Given the description of an element on the screen output the (x, y) to click on. 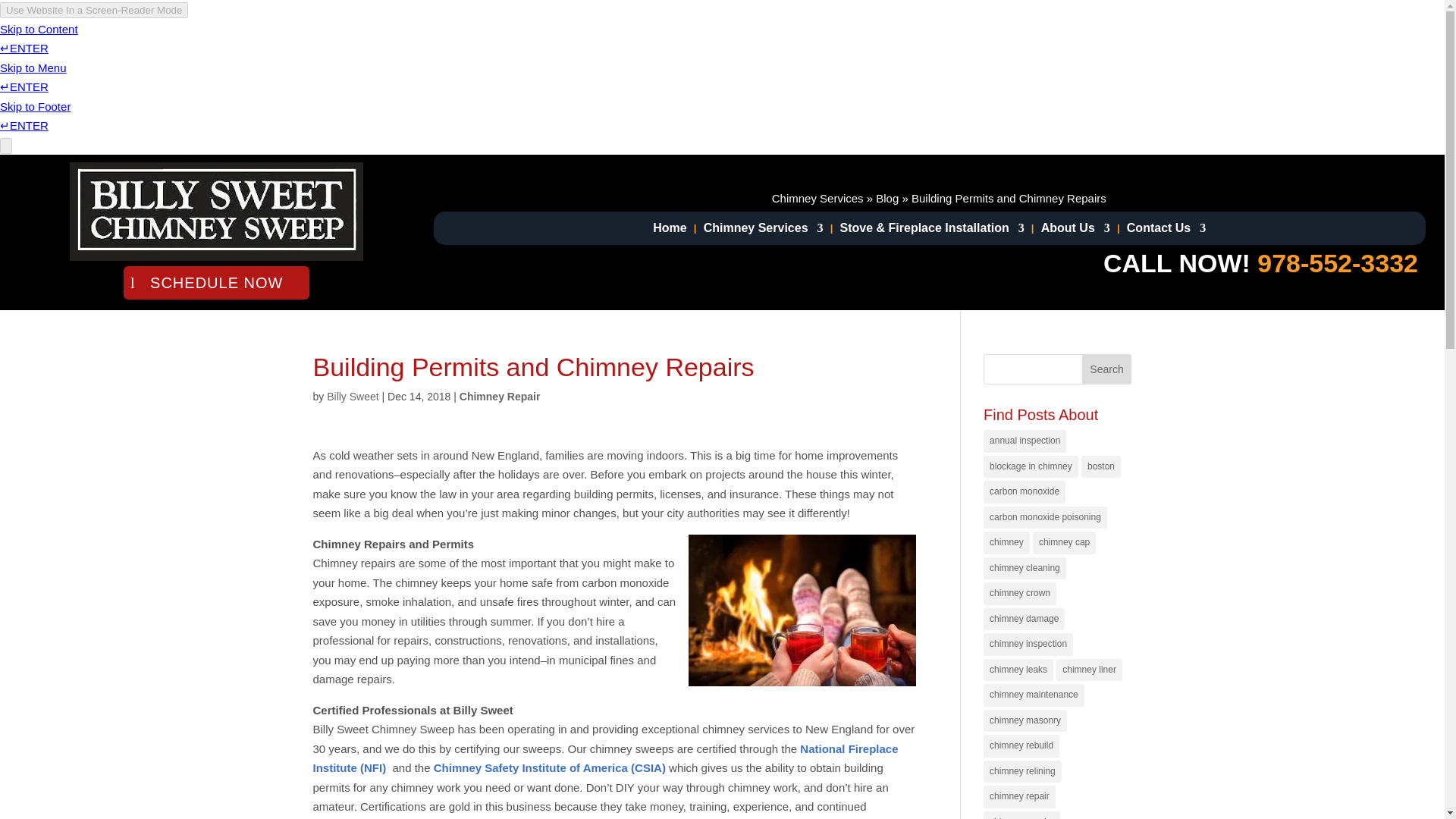
About Us (1075, 230)
Billy Sweet (352, 396)
Chimney Services (763, 230)
Search (1106, 368)
Chimney Repair (500, 396)
Home (668, 230)
SCHEDULE NOW (215, 282)
Contact Us (1165, 230)
Billy Sweet Chimney Sweeps Logo (215, 211)
Blog (887, 196)
